Given the description of an element on the screen output the (x, y) to click on. 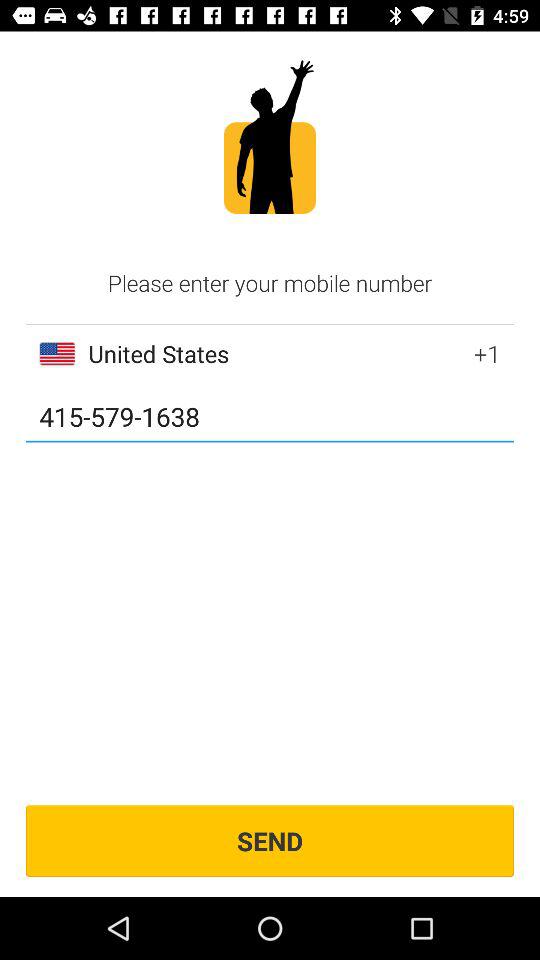
flip until 415-579-1638 (269, 418)
